Given the description of an element on the screen output the (x, y) to click on. 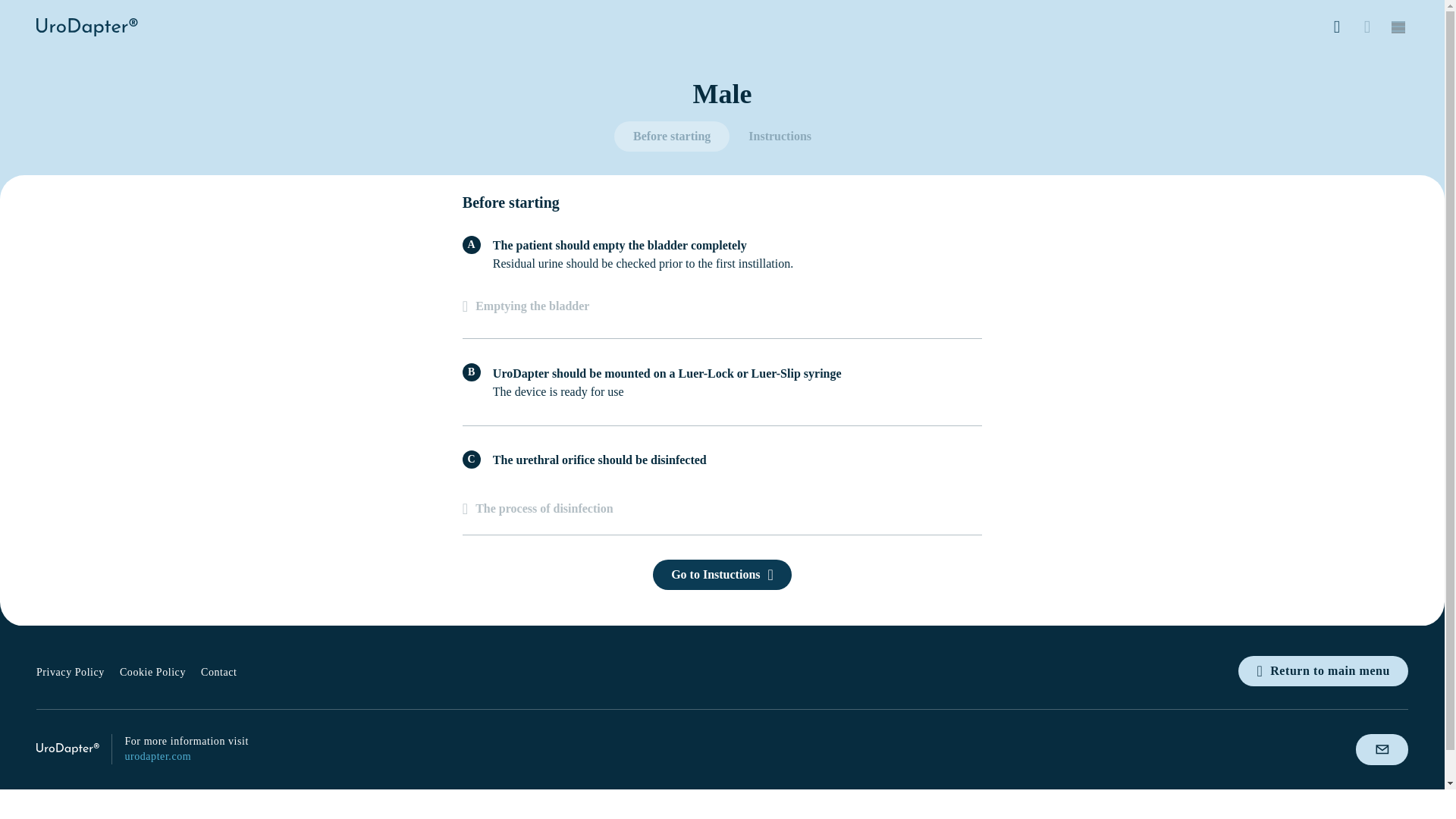
Return to main menu (1323, 671)
Before starting (671, 136)
Contact (217, 672)
Instructions (779, 136)
Emptying the bladder (722, 302)
Privacy Policy (70, 672)
Cookie Policy (152, 672)
The process of disinfection (547, 508)
